Given the description of an element on the screen output the (x, y) to click on. 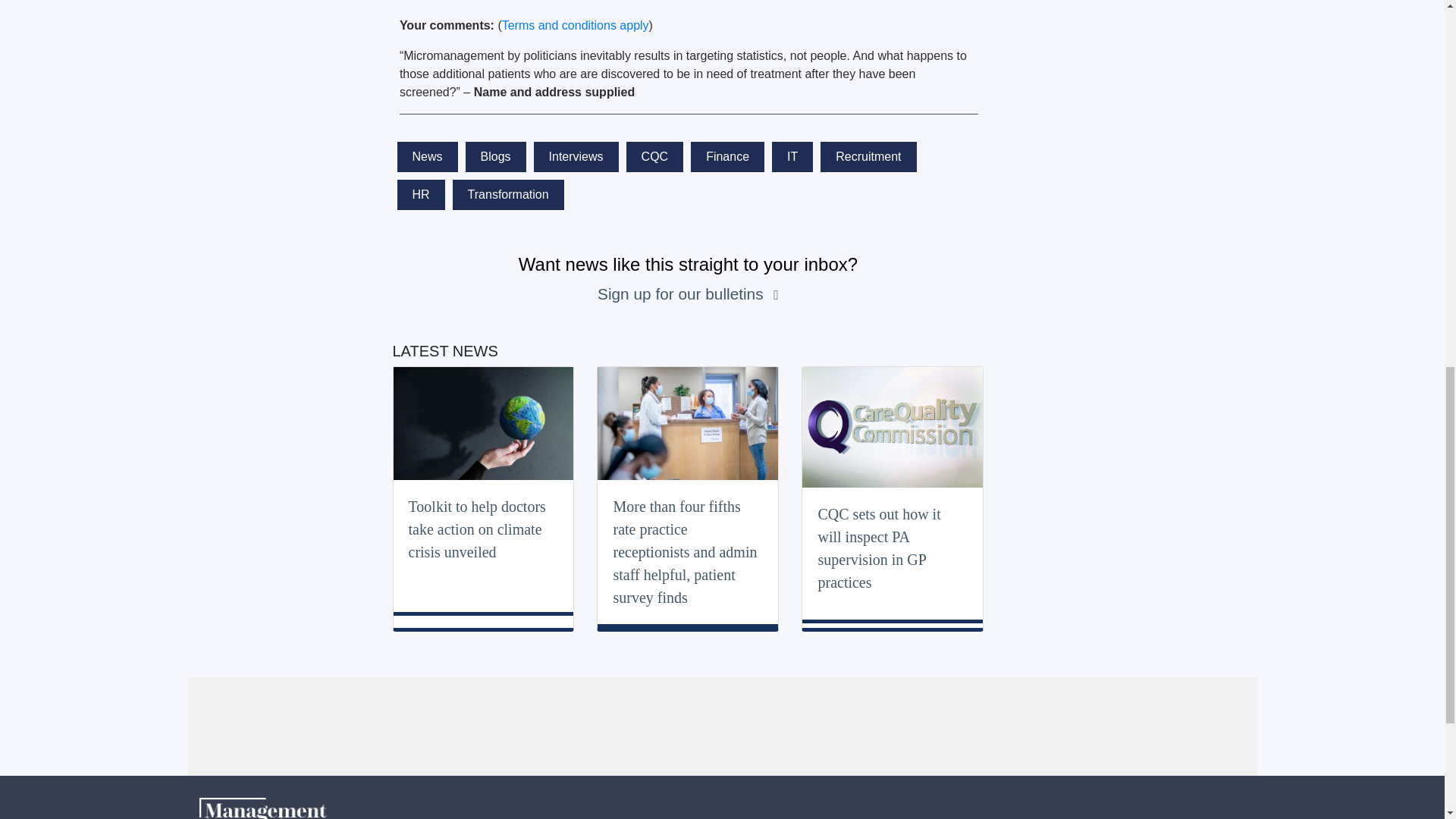
Sign up for our bulletins (681, 293)
